Given the description of an element on the screen output the (x, y) to click on. 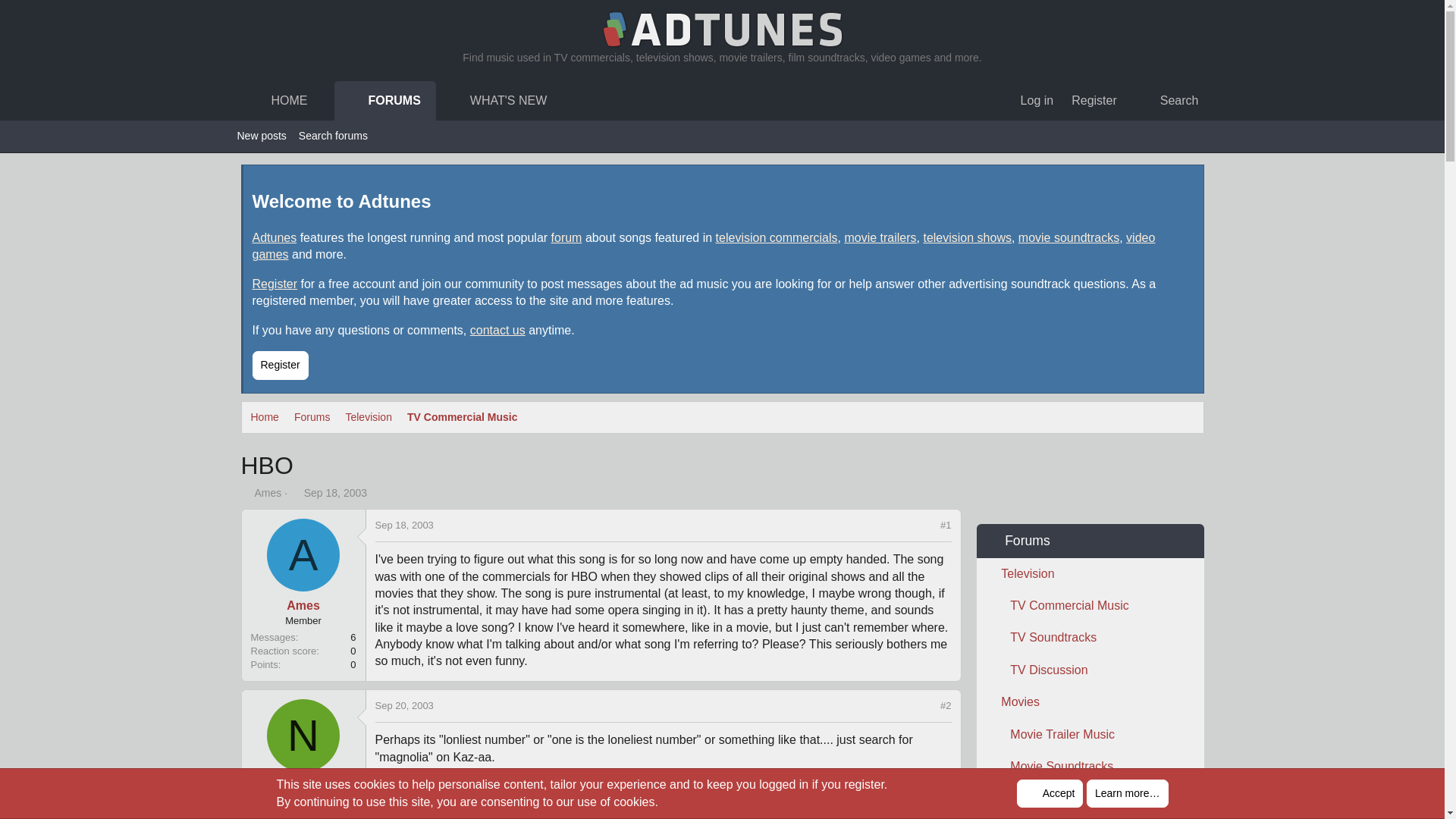
Start date (295, 492)
Search forums (333, 136)
WHAT'S NEW (491, 100)
Sep 18, 2003 at 10:15 PM (335, 492)
Sep 20, 2003 at 9:23 PM (403, 705)
forum (566, 237)
Log in (1036, 100)
movie trailers (879, 237)
Adtunes (404, 100)
television shows (274, 237)
HOME (967, 237)
Register (271, 100)
Sep 18, 2003 at 10:15 PM (1093, 100)
